Given the description of an element on the screen output the (x, y) to click on. 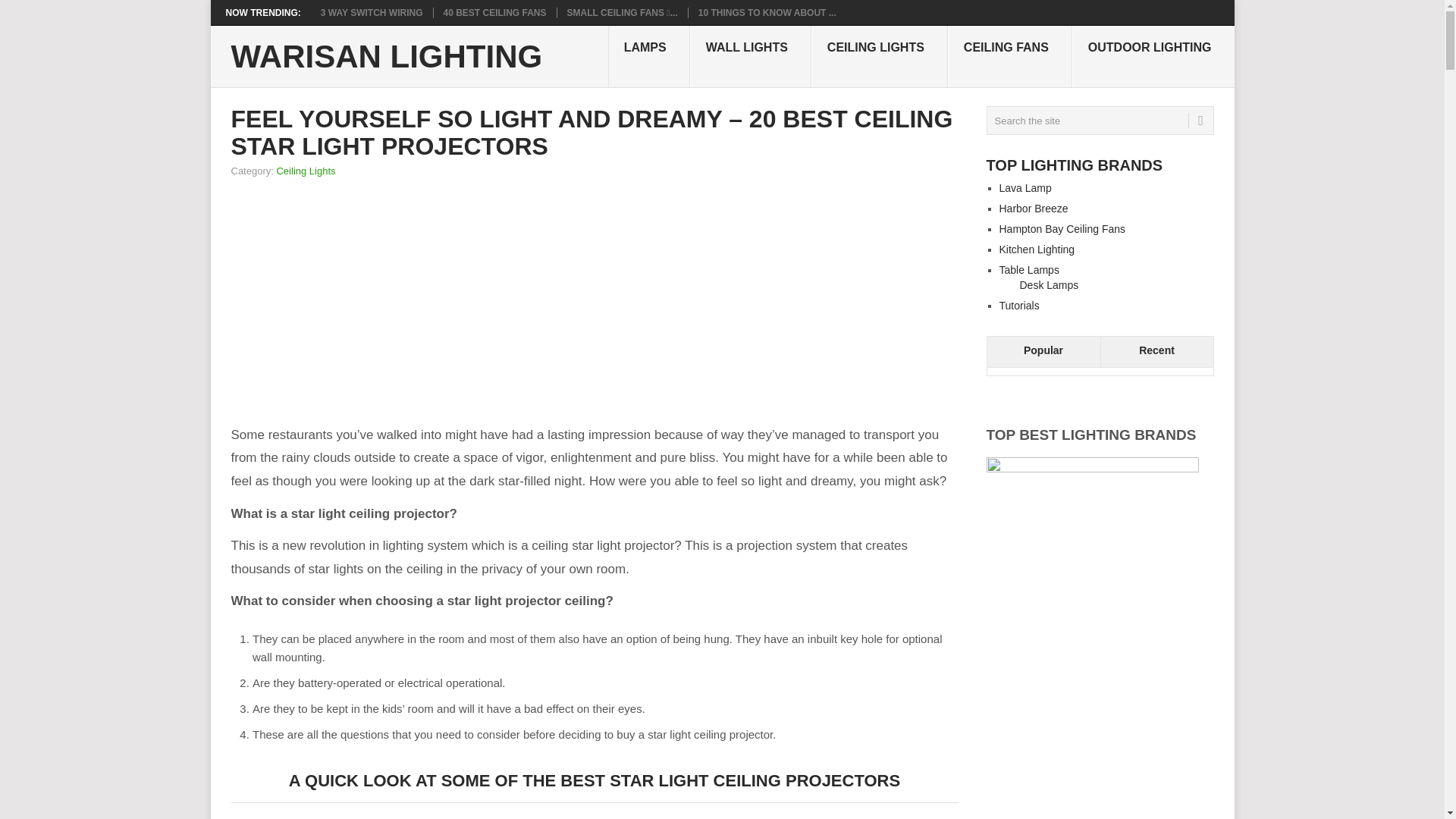
WARISAN LIGHTING (385, 56)
CEILING FANS (1009, 56)
3 WAY SWITCH WIRING (371, 12)
Lava Lamp (1024, 187)
40 BEST CEILING FANS (495, 12)
Table Lamps (1028, 269)
Search the site (1098, 120)
Desk Lamps (1048, 285)
Ceiling Lights (305, 170)
Recent (1155, 351)
LAMPS (649, 56)
Kitchen Lighting (1036, 249)
10 things to know about Outdoor Gazebo Lights (766, 12)
CEILING LIGHTS (878, 56)
40 Best Ceiling Fans (495, 12)
